Given the description of an element on the screen output the (x, y) to click on. 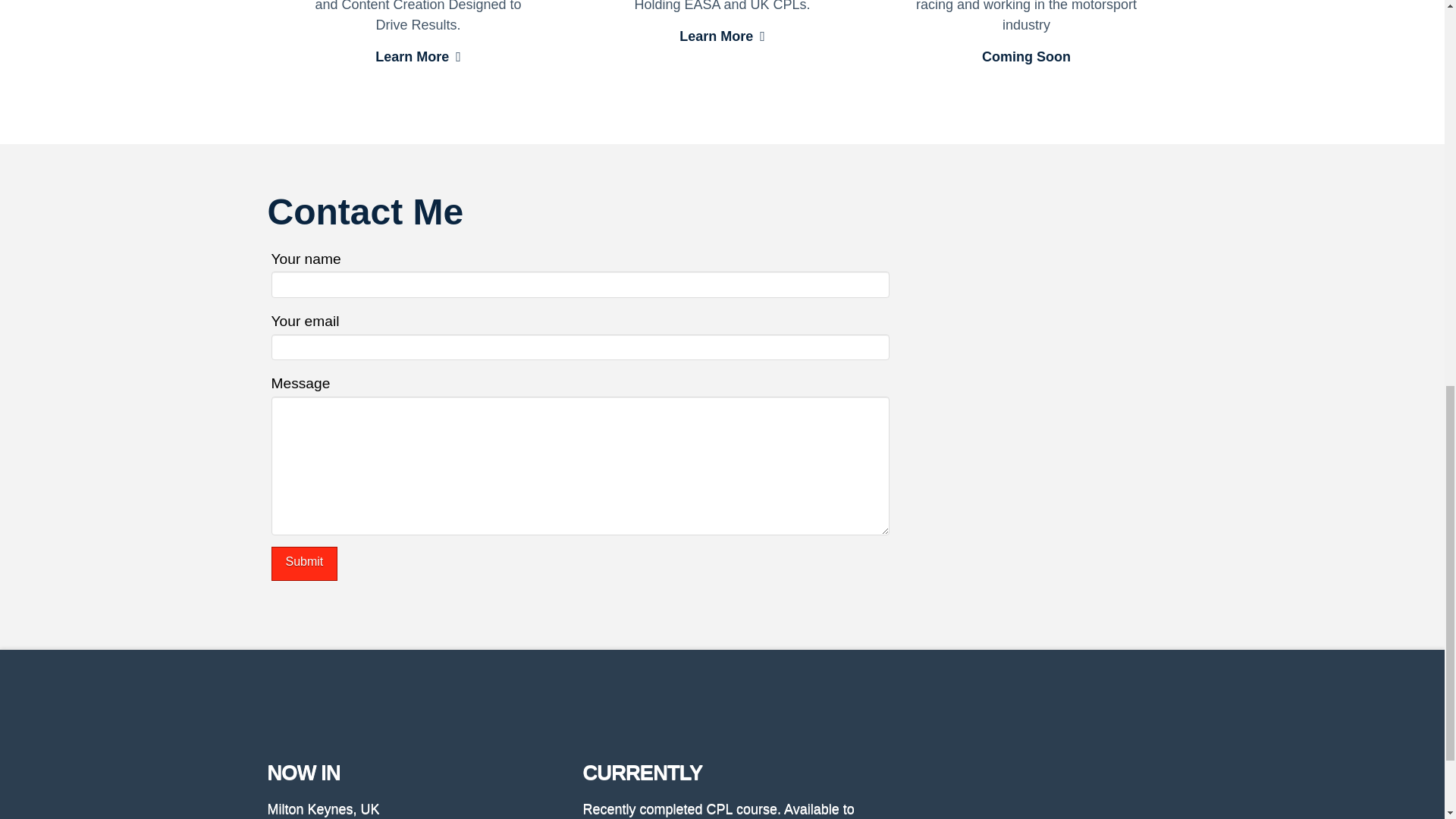
Coming Soon (1025, 58)
Submit (303, 563)
Submit (303, 563)
Learn More (722, 38)
Learn More (418, 58)
